Given the description of an element on the screen output the (x, y) to click on. 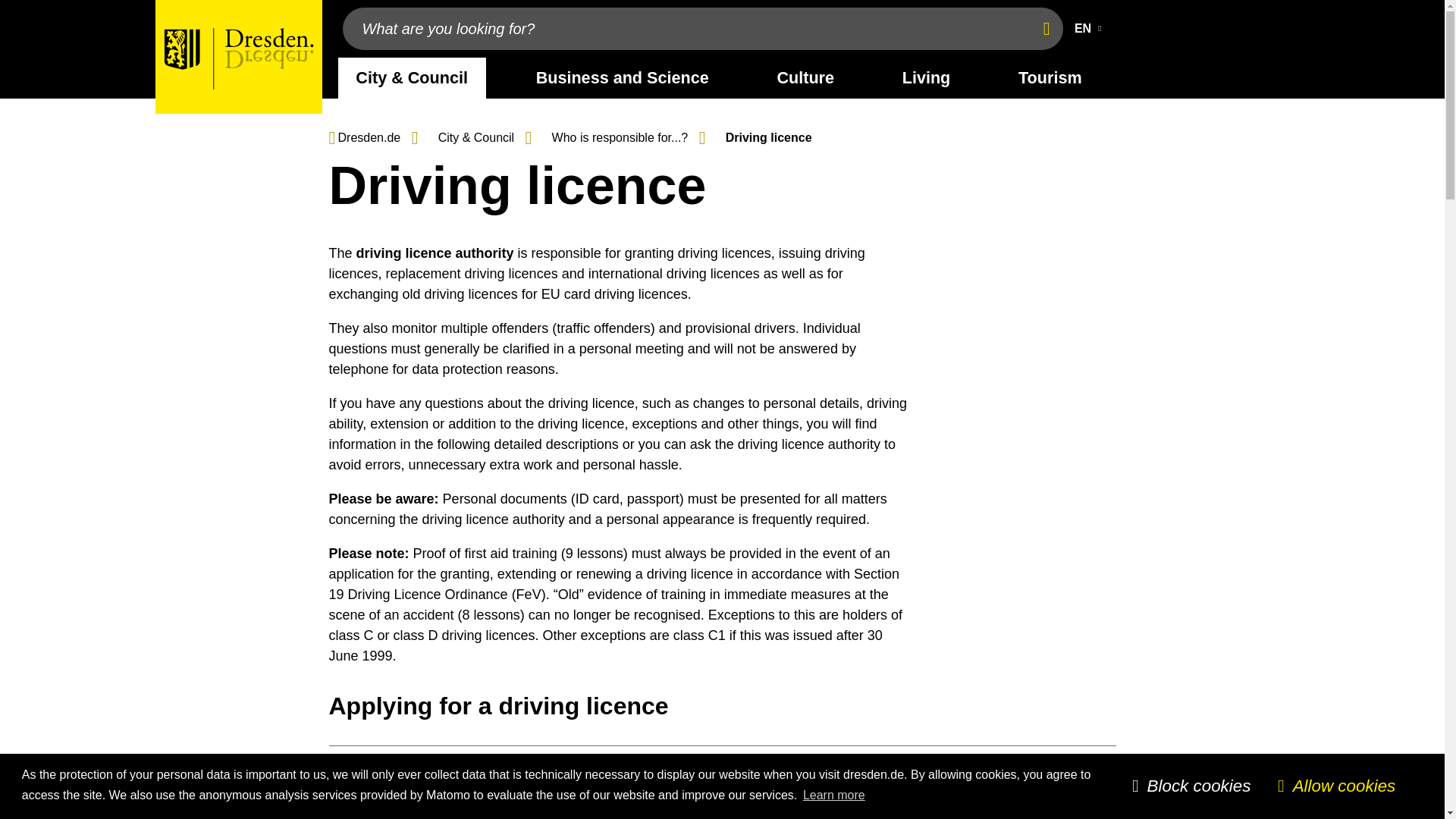
Choose language: english (1090, 29)
Choose language (1090, 28)
